Given the description of an element on the screen output the (x, y) to click on. 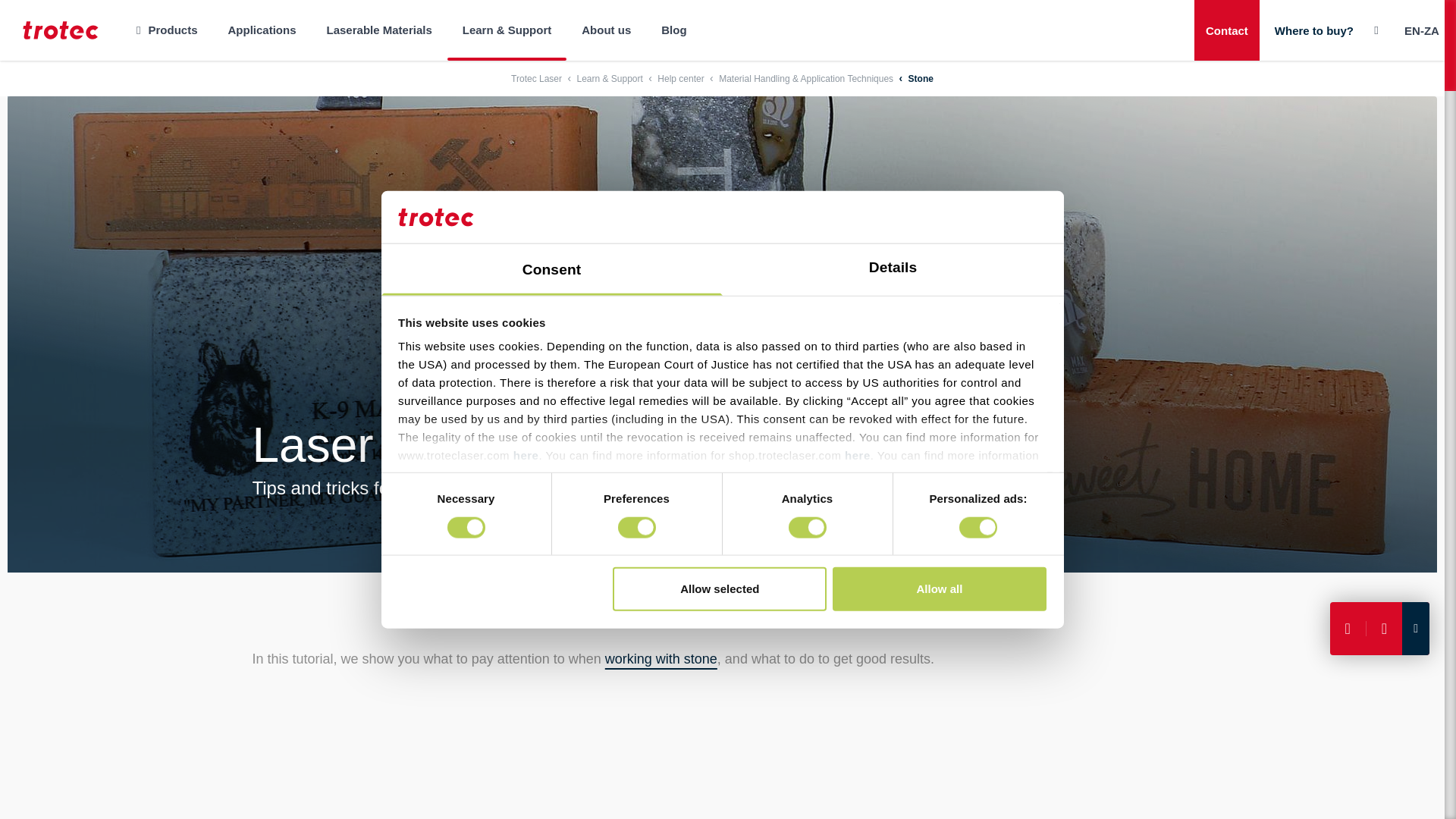
here (575, 472)
Details (892, 269)
here (857, 454)
here (525, 454)
Consent (551, 269)
